Given the description of an element on the screen output the (x, y) to click on. 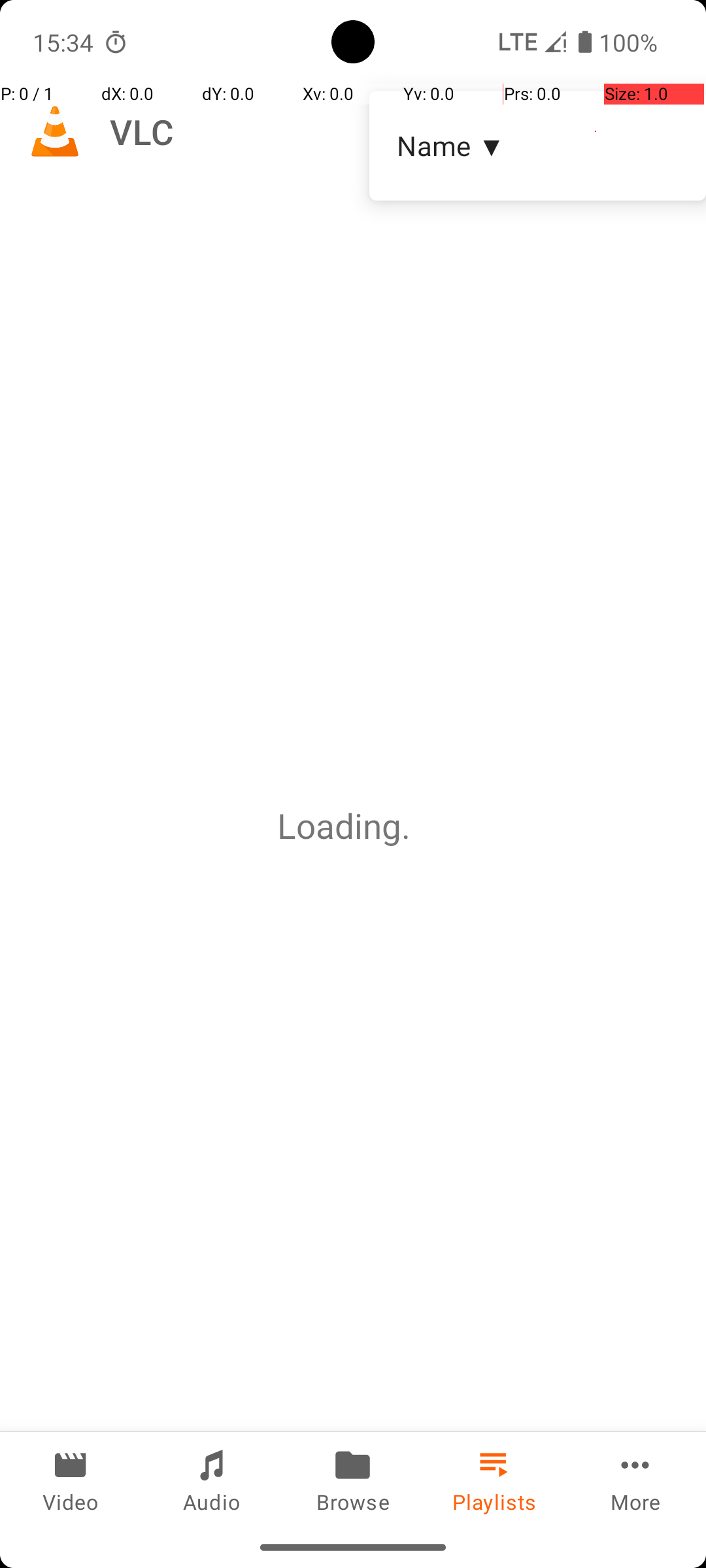
Name. Descending Element type: android.widget.LinearLayout (537, 145)
Name ▼ Element type: android.widget.TextView (537, 145)
